Given the description of an element on the screen output the (x, y) to click on. 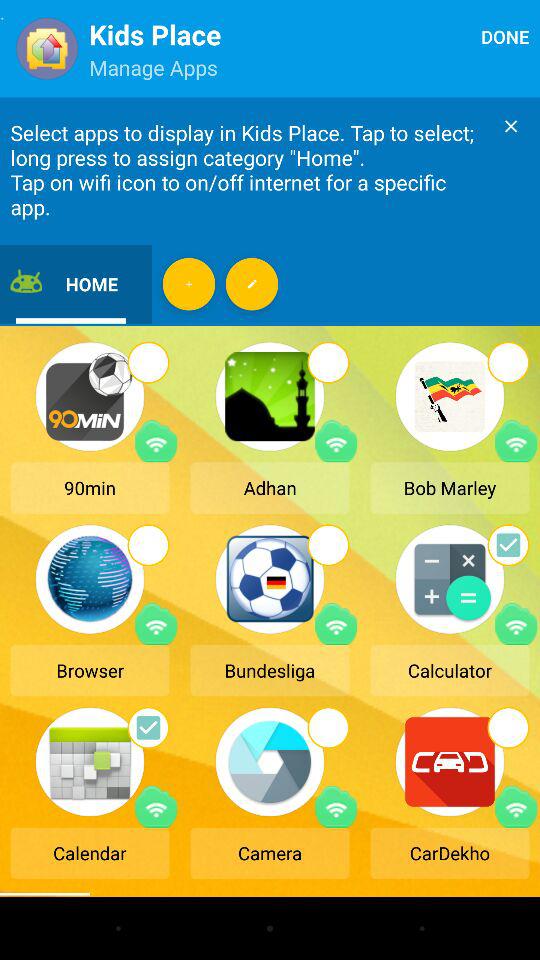
on/off internet (156, 806)
